Given the description of an element on the screen output the (x, y) to click on. 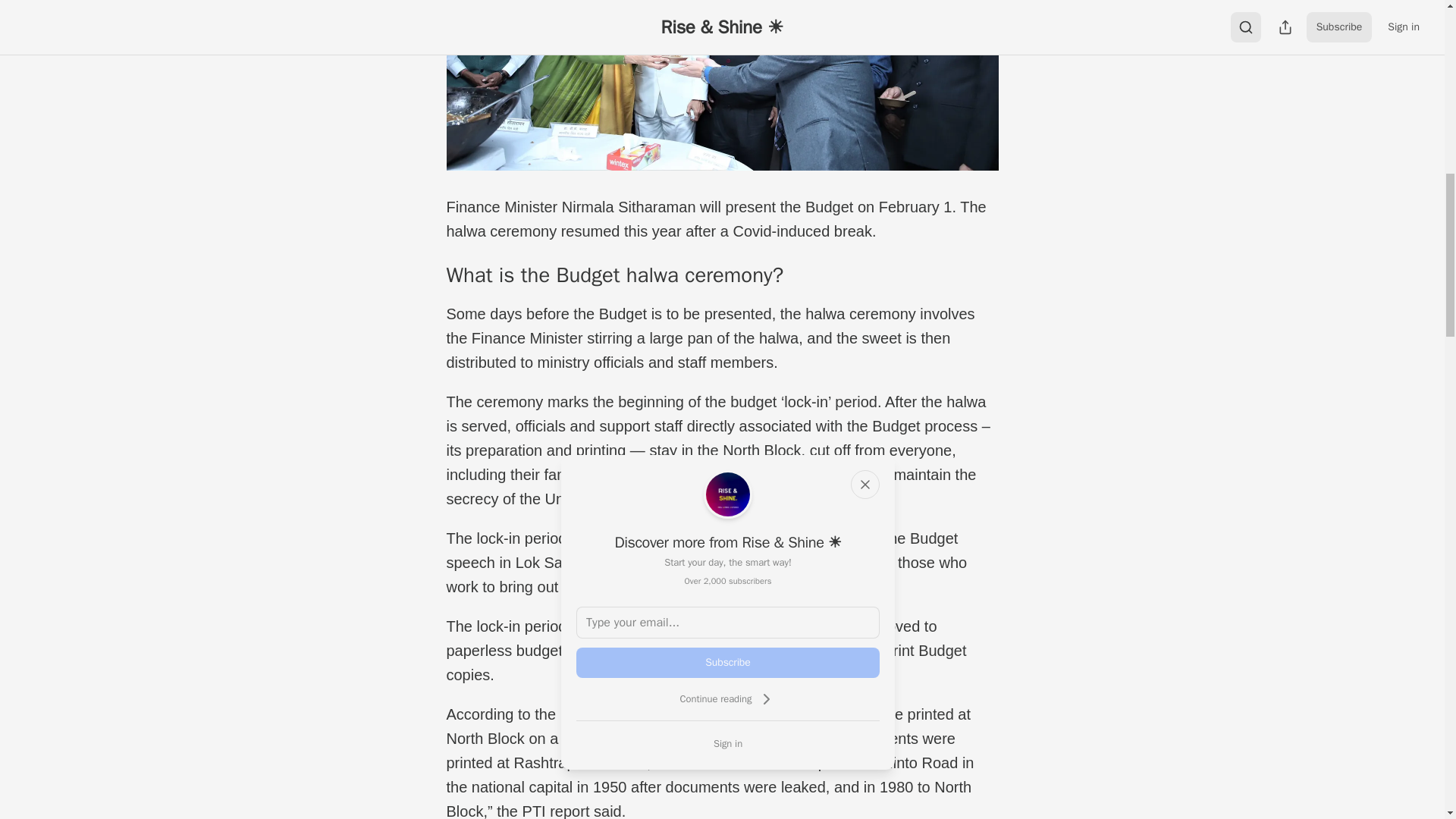
Union Budget 2023: Halwa ceremony - riseshine.in (721, 85)
Subscribe (727, 662)
Sign in (727, 743)
